Given the description of an element on the screen output the (x, y) to click on. 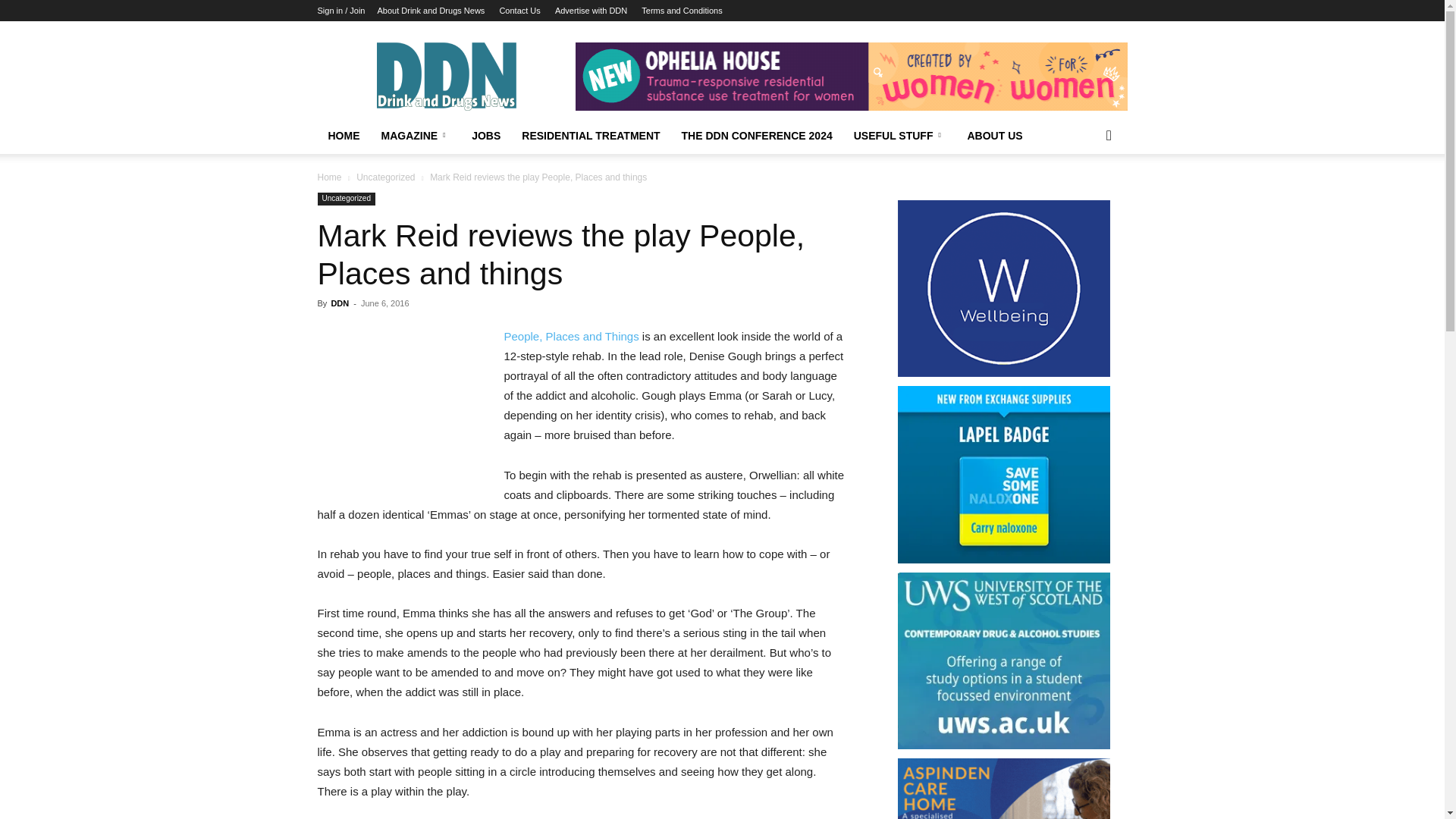
View all posts in Uncategorized (385, 176)
Contact Us (519, 10)
About Drink and Drugs News (430, 10)
